Given the description of an element on the screen output the (x, y) to click on. 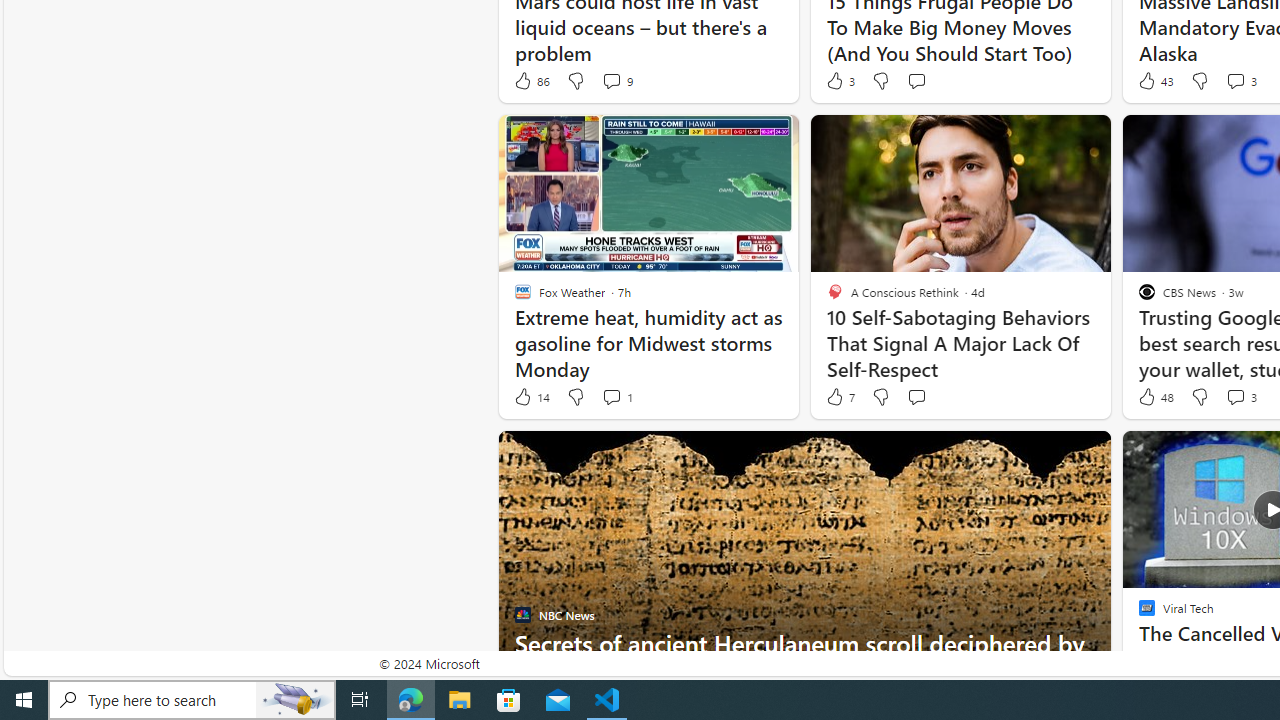
7 Like (839, 397)
View comments 1 Comment (616, 397)
View comments 3 Comment (1240, 397)
View comments 9 Comment (611, 80)
Start the conversation (916, 396)
14 Like (531, 397)
Start the conversation (916, 397)
View comments 3 Comment (1234, 396)
Dislike (1199, 397)
Hide this story (1050, 454)
43 Like (1154, 80)
View comments 9 Comment (616, 80)
View comments 1 Comment (611, 396)
